Given the description of an element on the screen output the (x, y) to click on. 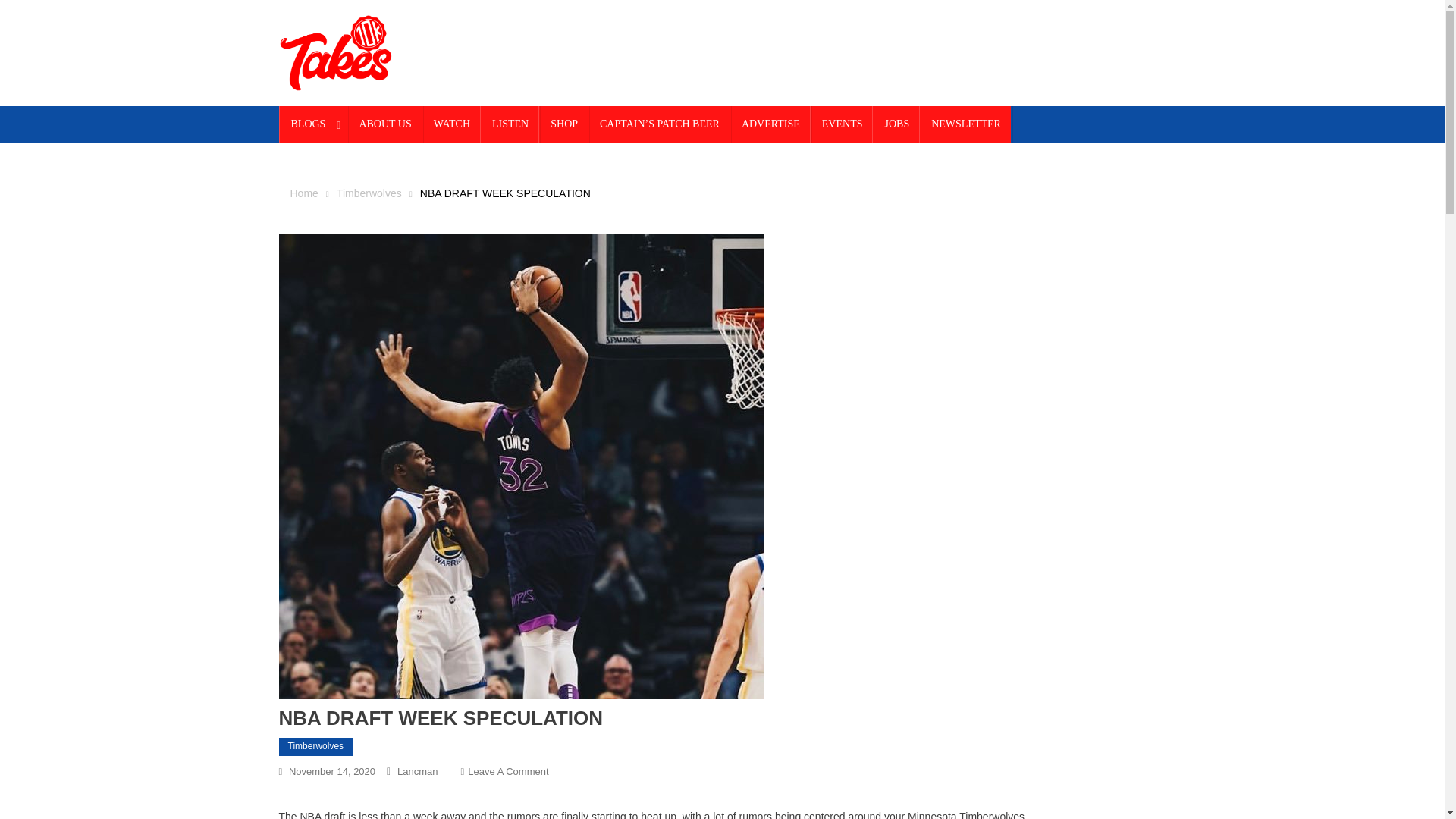
EVENTS (842, 124)
ABOUT US (384, 124)
Timberwolves (316, 746)
November 14, 2020 (507, 771)
Timberwolves (331, 771)
BLOGS (368, 193)
ADVERTISE (314, 124)
WATCH (770, 124)
NEWSLETTER (451, 124)
Home (965, 124)
LISTEN (303, 193)
Lancman (510, 124)
JOBS (417, 771)
SHOP (896, 124)
